Given the description of an element on the screen output the (x, y) to click on. 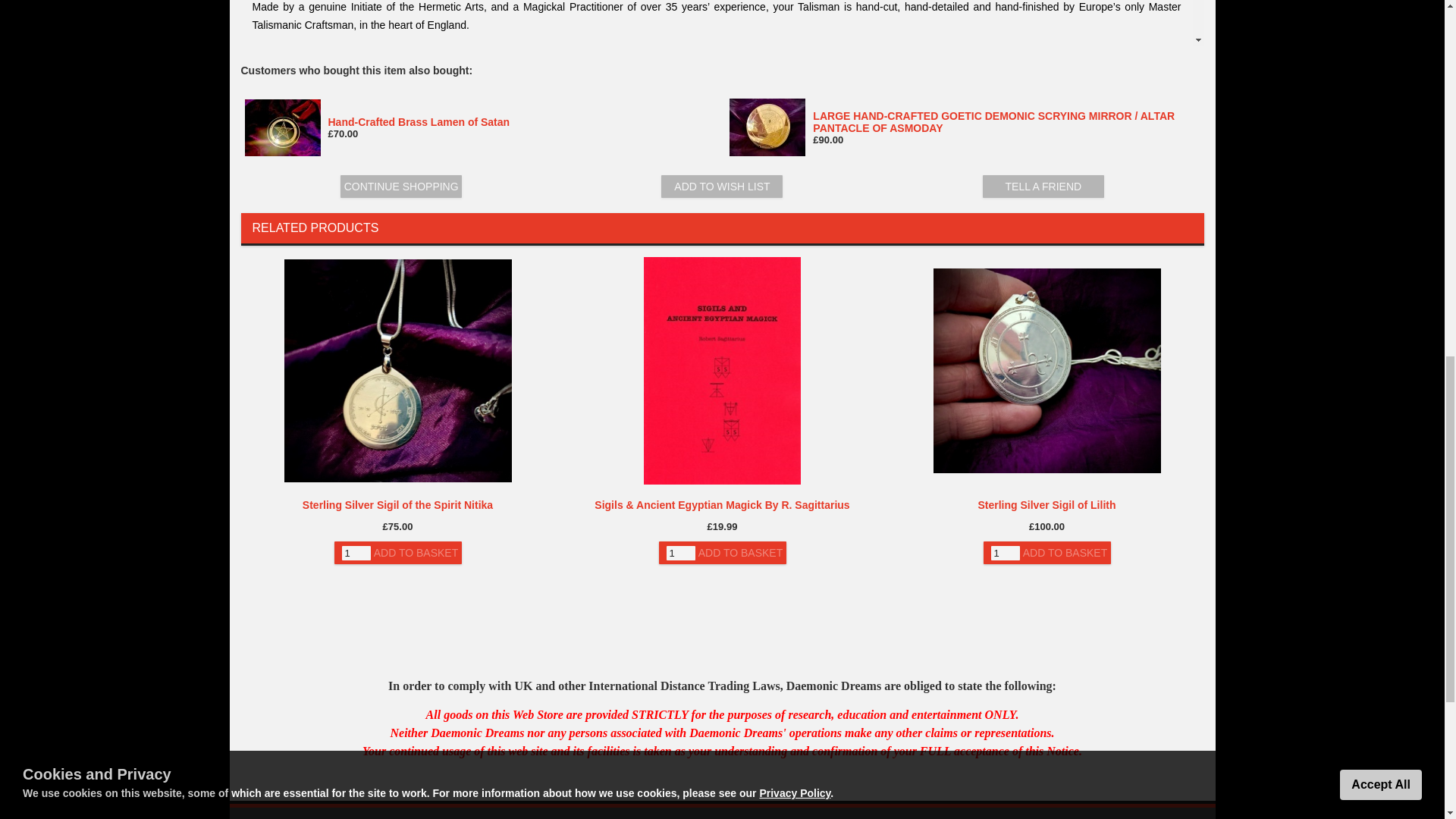
1 (354, 553)
CONTINUE SHOPPING (400, 186)
ADD TO BASKET (740, 552)
ADD TO BASKET (415, 552)
Sterling Silver Sigil of the Spirit Nitika (397, 504)
1 (679, 553)
1 (1004, 553)
Hand-Crafted Brass Lamen of Satan (418, 121)
ADD TO WISH LIST (722, 186)
TELL A FRIEND (1042, 186)
ADD TO BASKET (1064, 552)
Sterling Silver Sigil of Lilith (1045, 504)
